Given the description of an element on the screen output the (x, y) to click on. 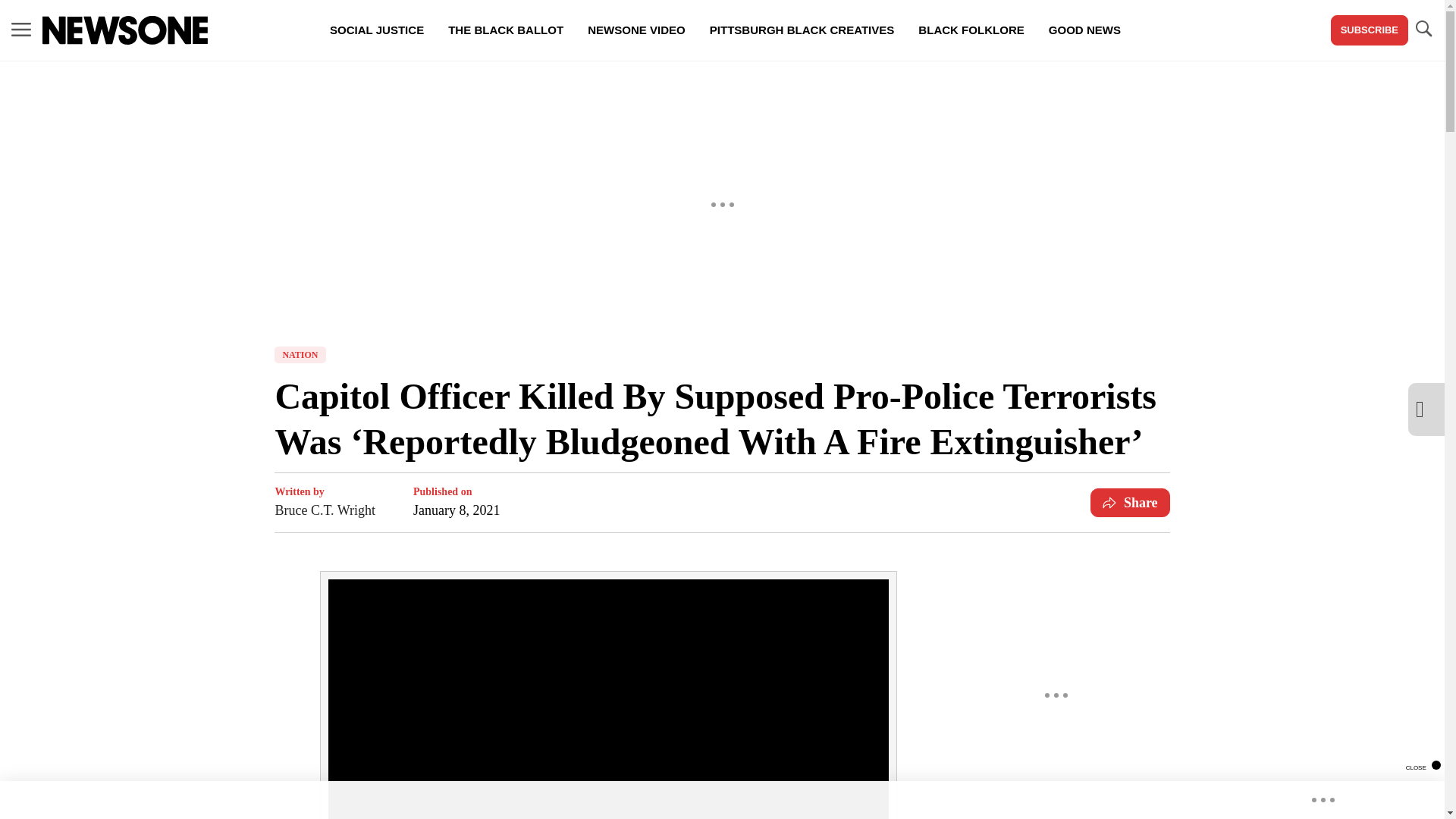
SUBSCRIBE (1368, 30)
GOOD NEWS (1084, 30)
Share (1130, 502)
SOCIAL JUSTICE (376, 30)
BLACK FOLKLORE (970, 30)
Bruce C.T. Wright (325, 509)
TOGGLE SEARCH (1422, 30)
MENU (20, 30)
THE BLACK BALLOT (505, 30)
NATION (299, 354)
